Given the description of an element on the screen output the (x, y) to click on. 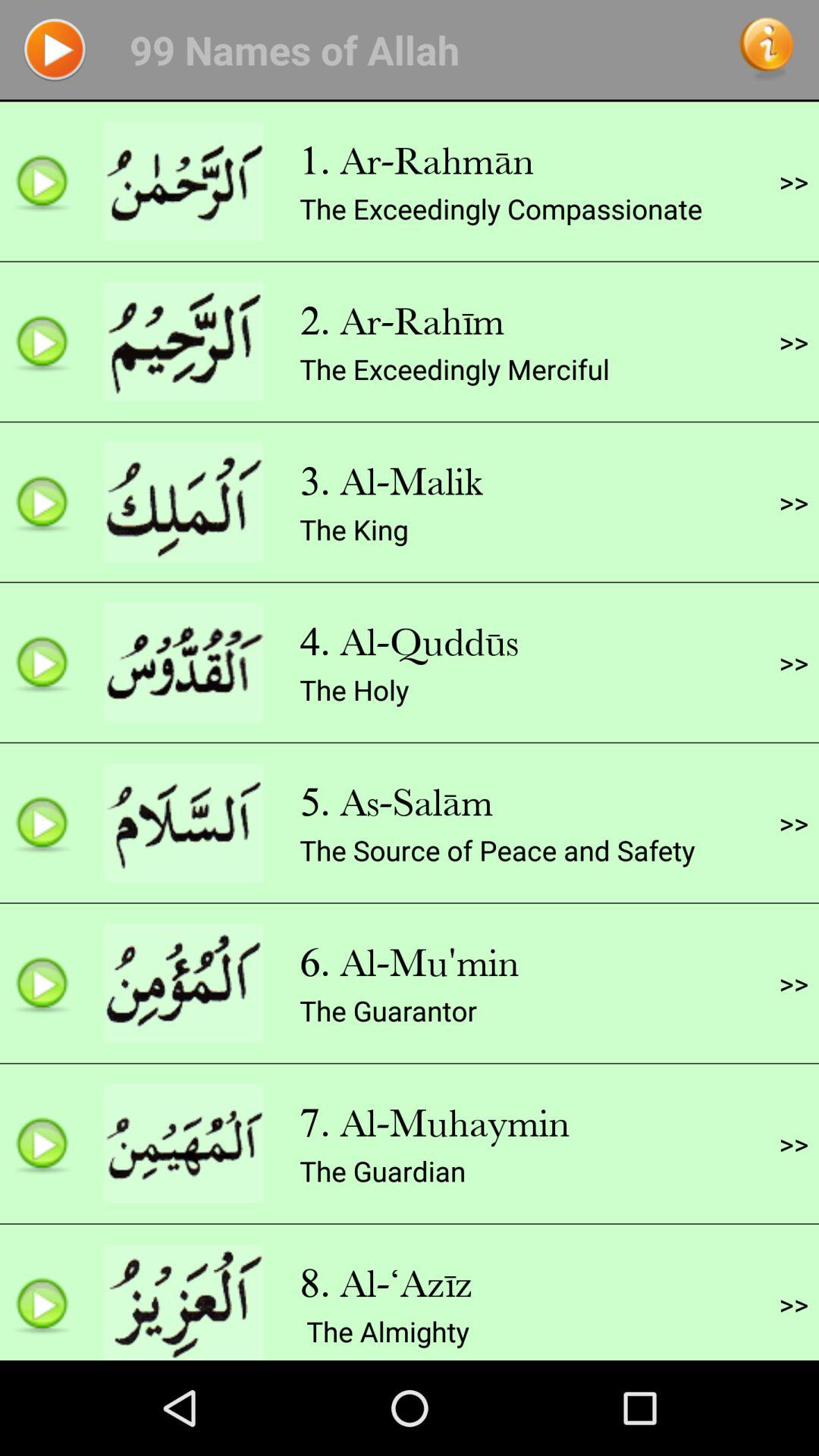
tap the holy app (353, 689)
